Given the description of an element on the screen output the (x, y) to click on. 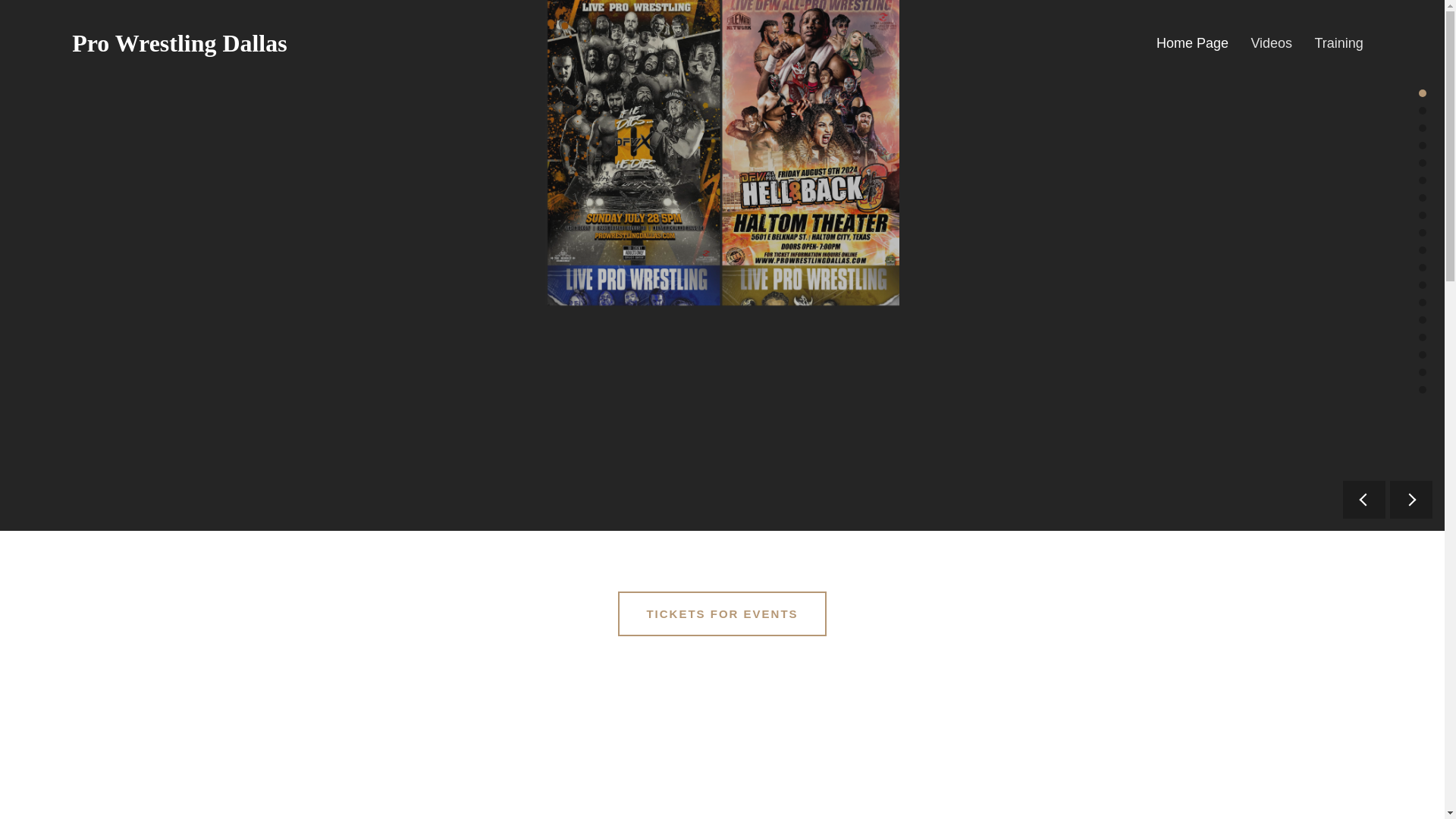
TICKETS FOR EVENTS (721, 613)
15 (1422, 337)
10 (1422, 249)
7 (1422, 197)
16 (1422, 354)
9 (1422, 232)
2 (1422, 110)
Pro Wrestling Dallas (178, 43)
8 (1422, 215)
5 (1422, 162)
4 (1422, 145)
11 (1422, 267)
12 (1422, 285)
Training (1337, 43)
Home Page (1192, 43)
